Given the description of an element on the screen output the (x, y) to click on. 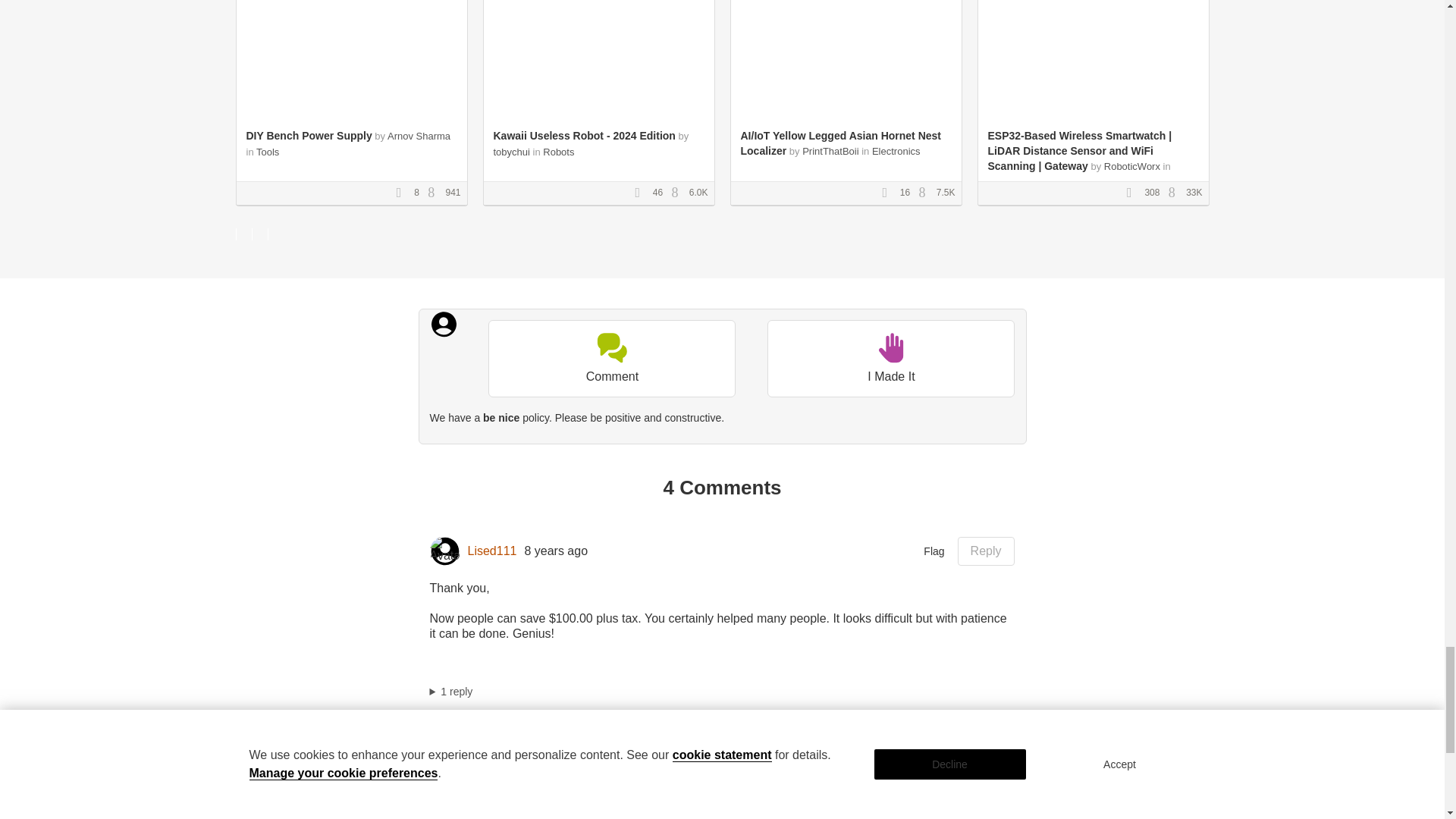
Tools (267, 152)
Views Count (435, 193)
DIY Bench Power Supply (308, 135)
Favorites Count (889, 193)
Arnov Sharma (418, 135)
Electronics (896, 151)
PrintThatBoii (831, 151)
Kawaii Useless Robot - 2024 Edition (584, 135)
Views Count (1176, 193)
Favorites Count (641, 193)
Robots (558, 152)
Views Count (678, 193)
Favorites Count (1133, 193)
Views Count (925, 193)
2016-12-20 16:39:26.0 (563, 756)
